Given the description of an element on the screen output the (x, y) to click on. 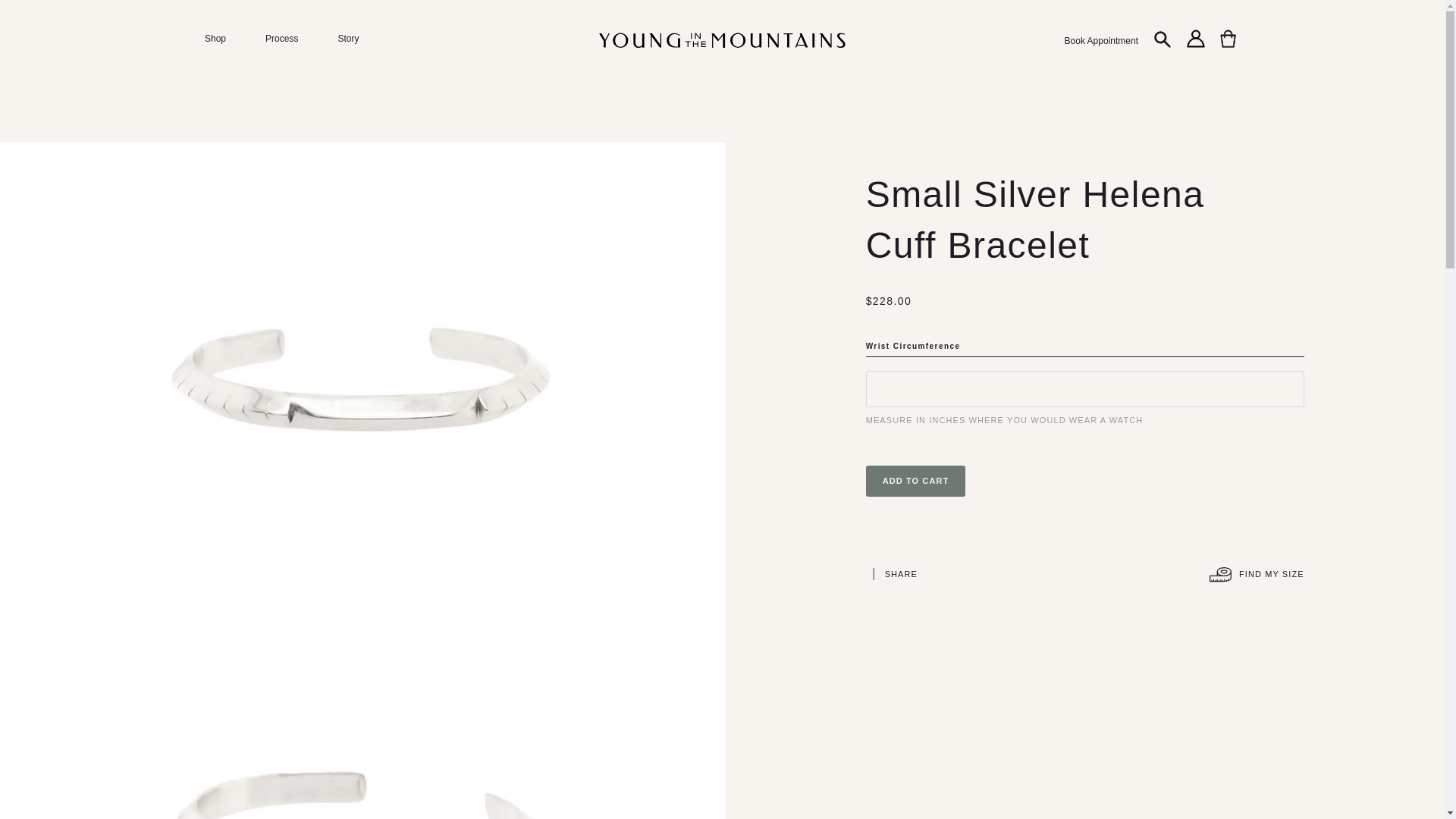
Log In (1195, 47)
ADD TO CART (916, 481)
SHARE (901, 574)
FIND MY SIZE (1256, 574)
Book Appointment (1101, 44)
